Given the description of an element on the screen output the (x, y) to click on. 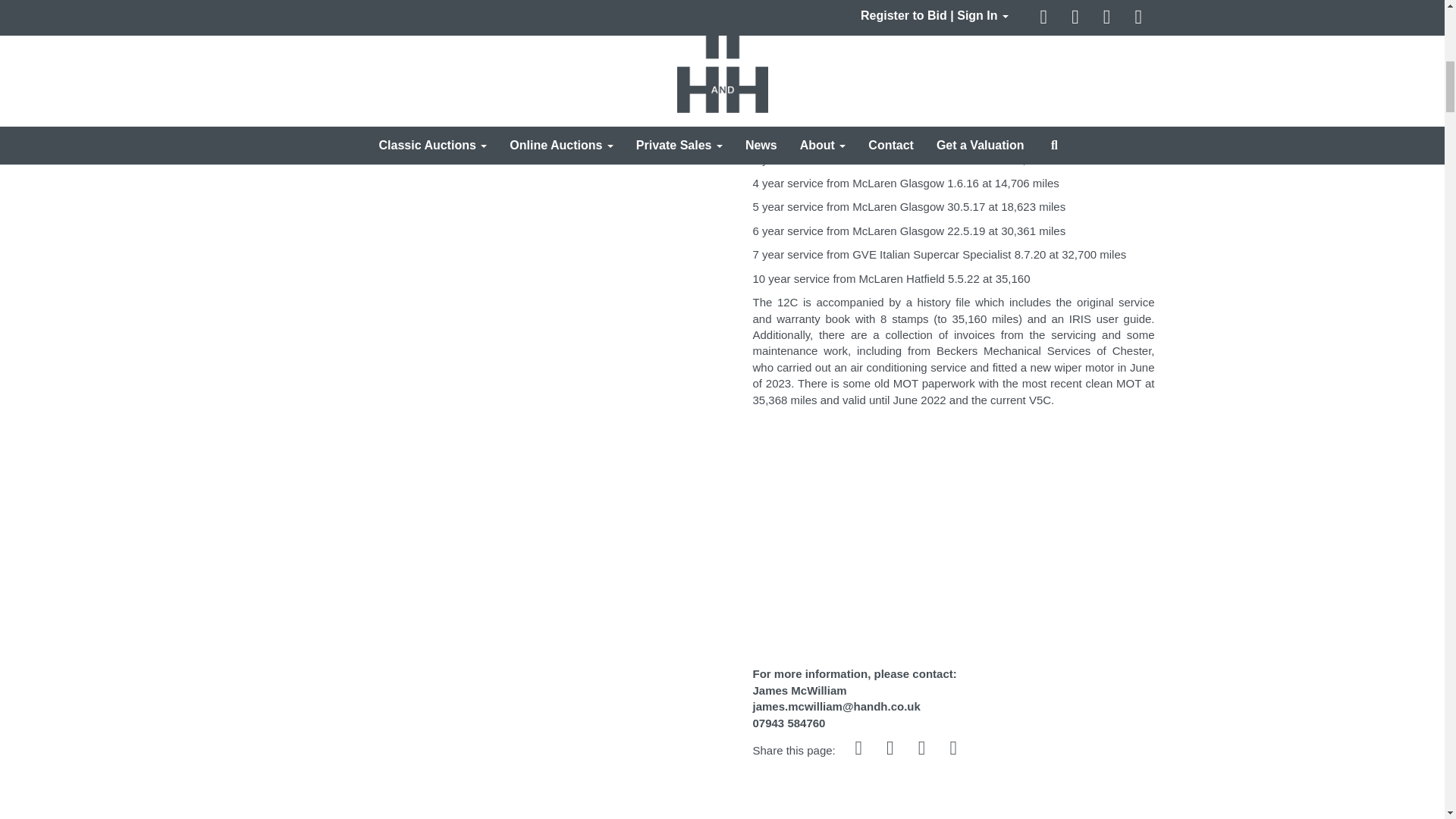
Tweet this page (892, 749)
YouTube video player (964, 534)
Share via email (954, 749)
Share on Facebook (860, 749)
Go to our instagram page (922, 749)
